Given the description of an element on the screen output the (x, y) to click on. 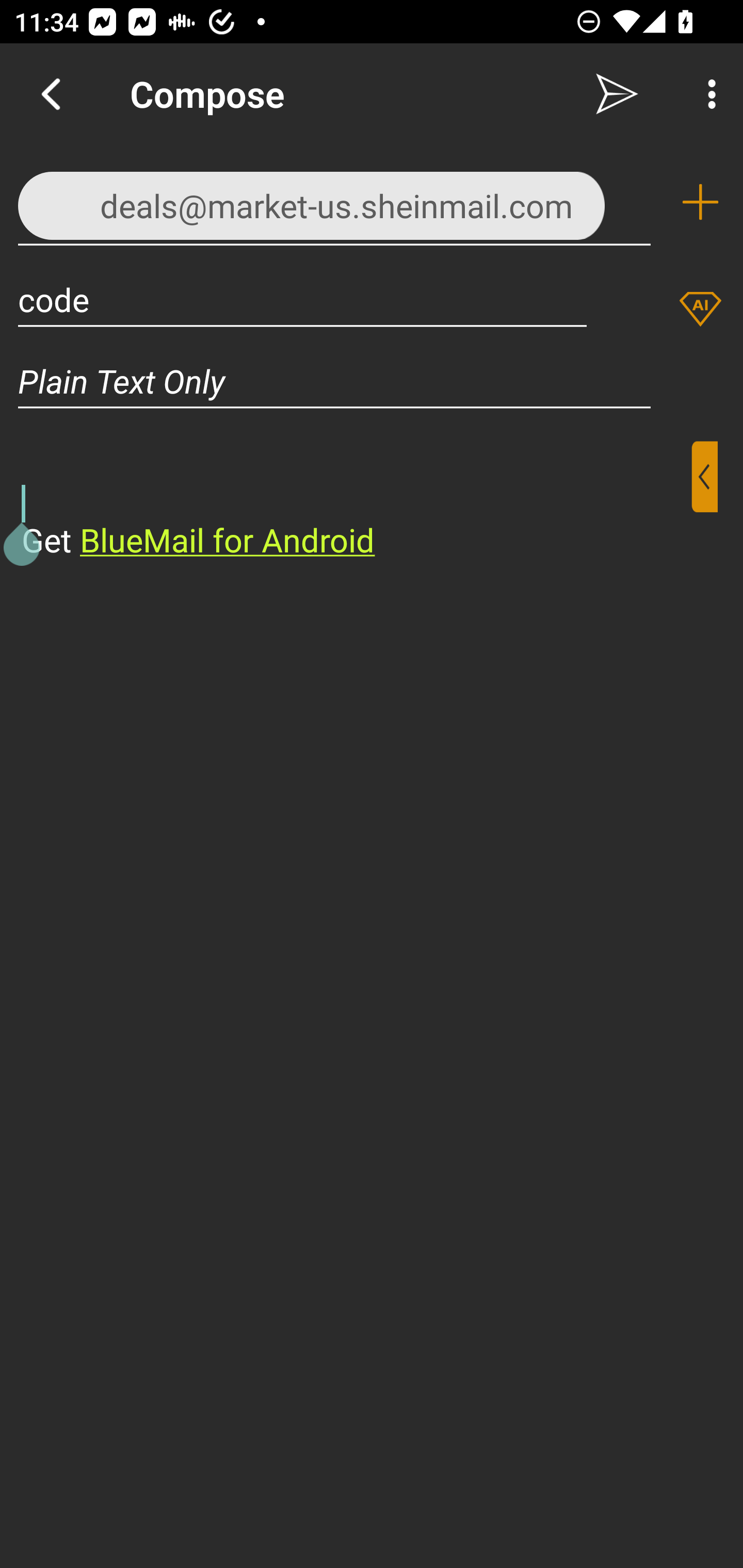
Navigate up (50, 93)
Send (616, 93)
More Options (706, 93)
<deals@market-us.sheinmail.com>,  (334, 201)
Add recipient (To) (699, 201)
code (302, 299)
Plain Text Only (371, 380)


⁣Get BlueMail for Android ​ (355, 501)
